Given the description of an element on the screen output the (x, y) to click on. 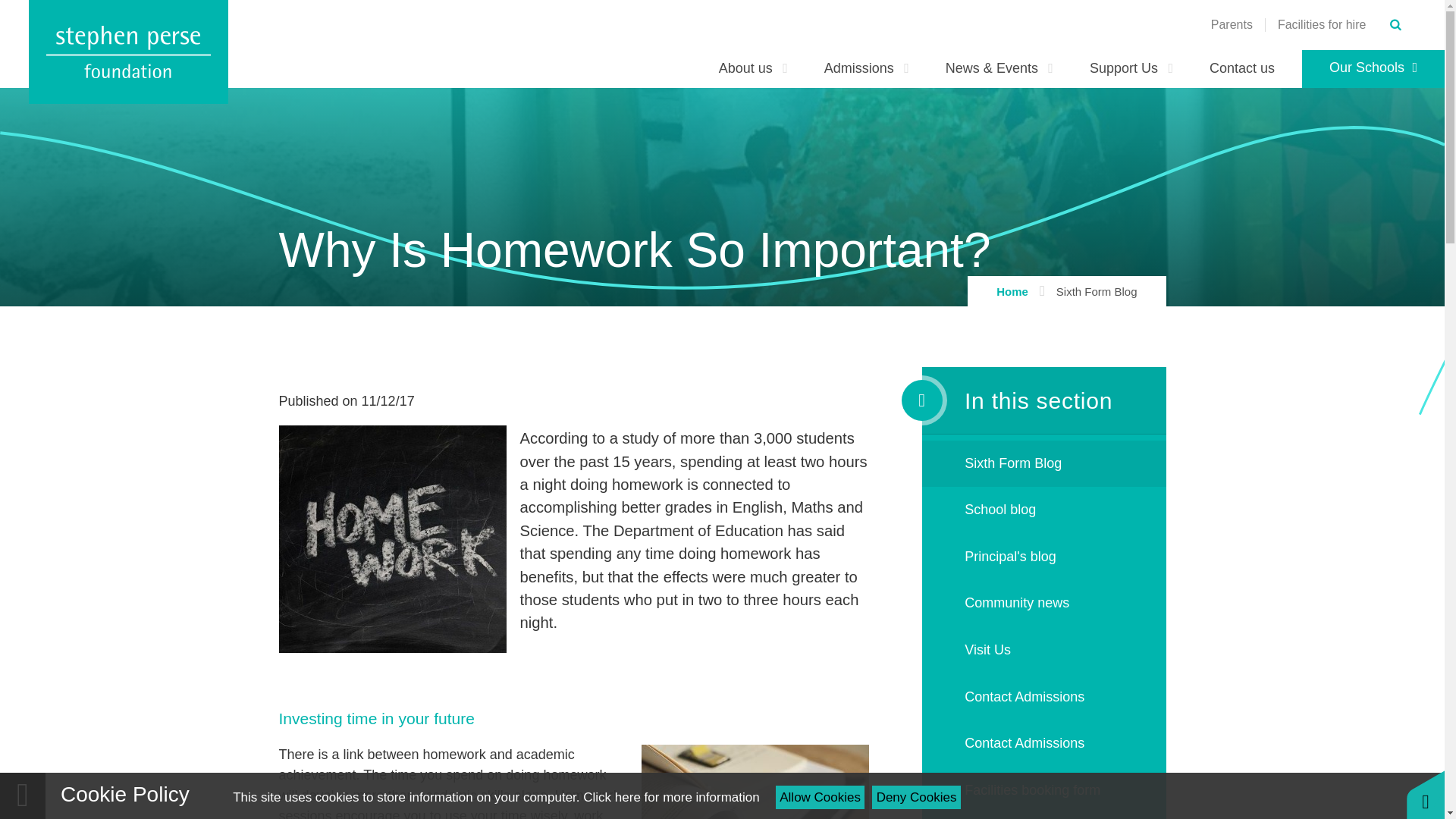
Parents (1231, 24)
Admissions (866, 67)
About us (753, 67)
Facilities for hire (1321, 24)
See cookie policy (670, 797)
home (128, 52)
